Given the description of an element on the screen output the (x, y) to click on. 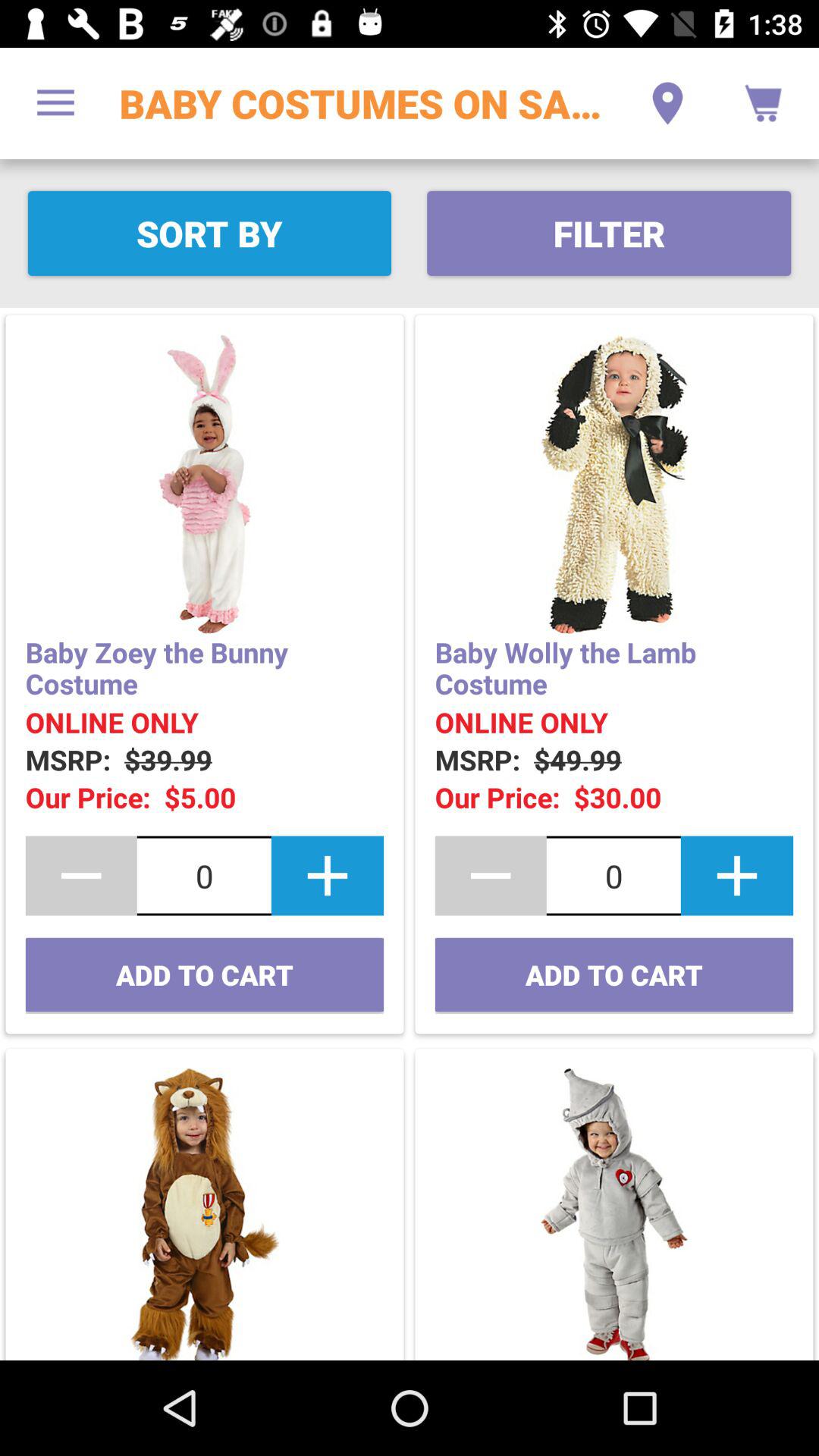
turn on the icon next to filter item (209, 233)
